Given the description of an element on the screen output the (x, y) to click on. 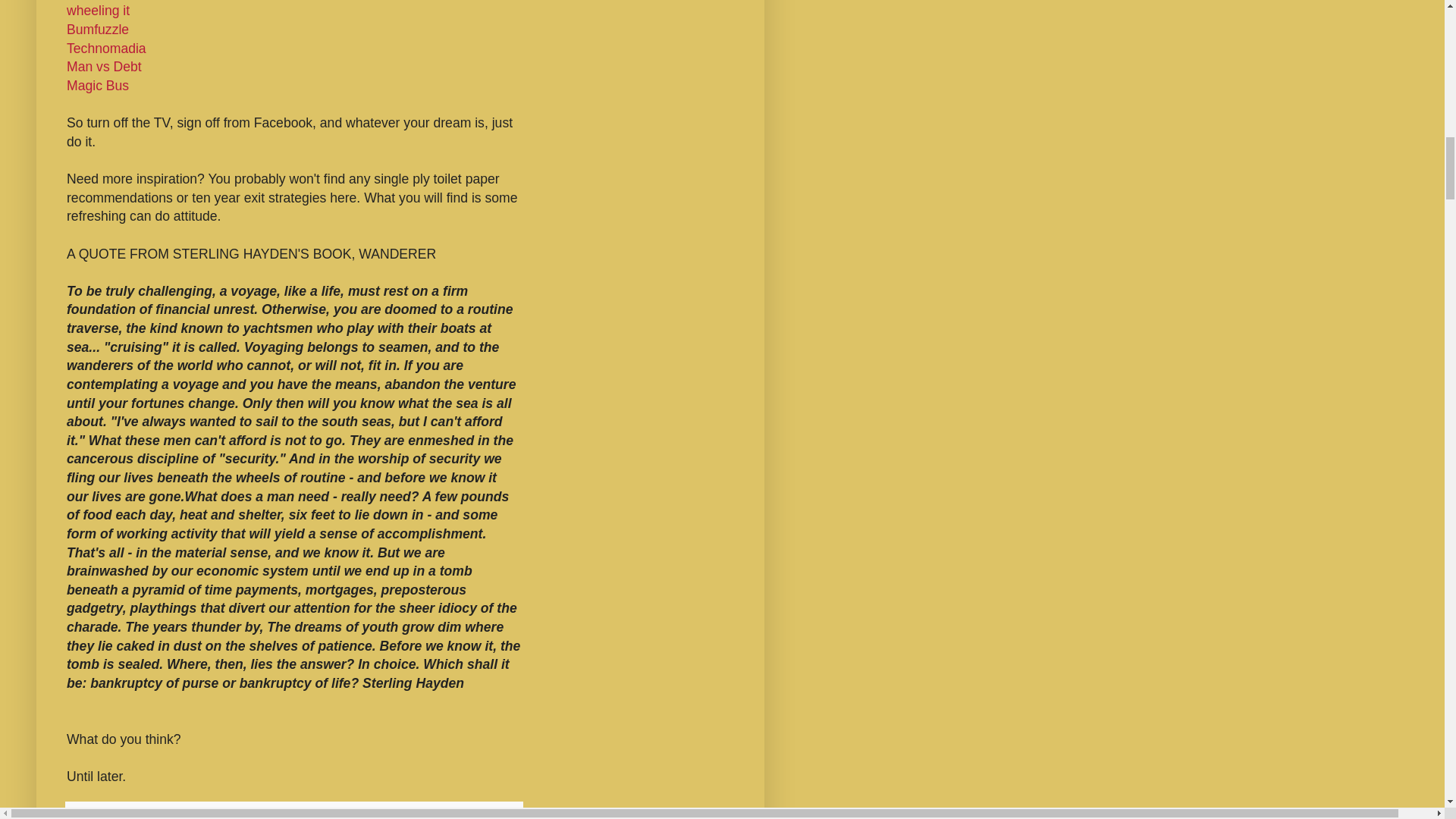
Bumfuzzle (97, 29)
John and Judy (160, 813)
permanent link (230, 813)
Man vs Debt (103, 66)
author profile (160, 813)
Email Post (258, 813)
Technomadia (106, 48)
wheeling it (97, 10)
Magic Bus (97, 85)
